Given the description of an element on the screen output the (x, y) to click on. 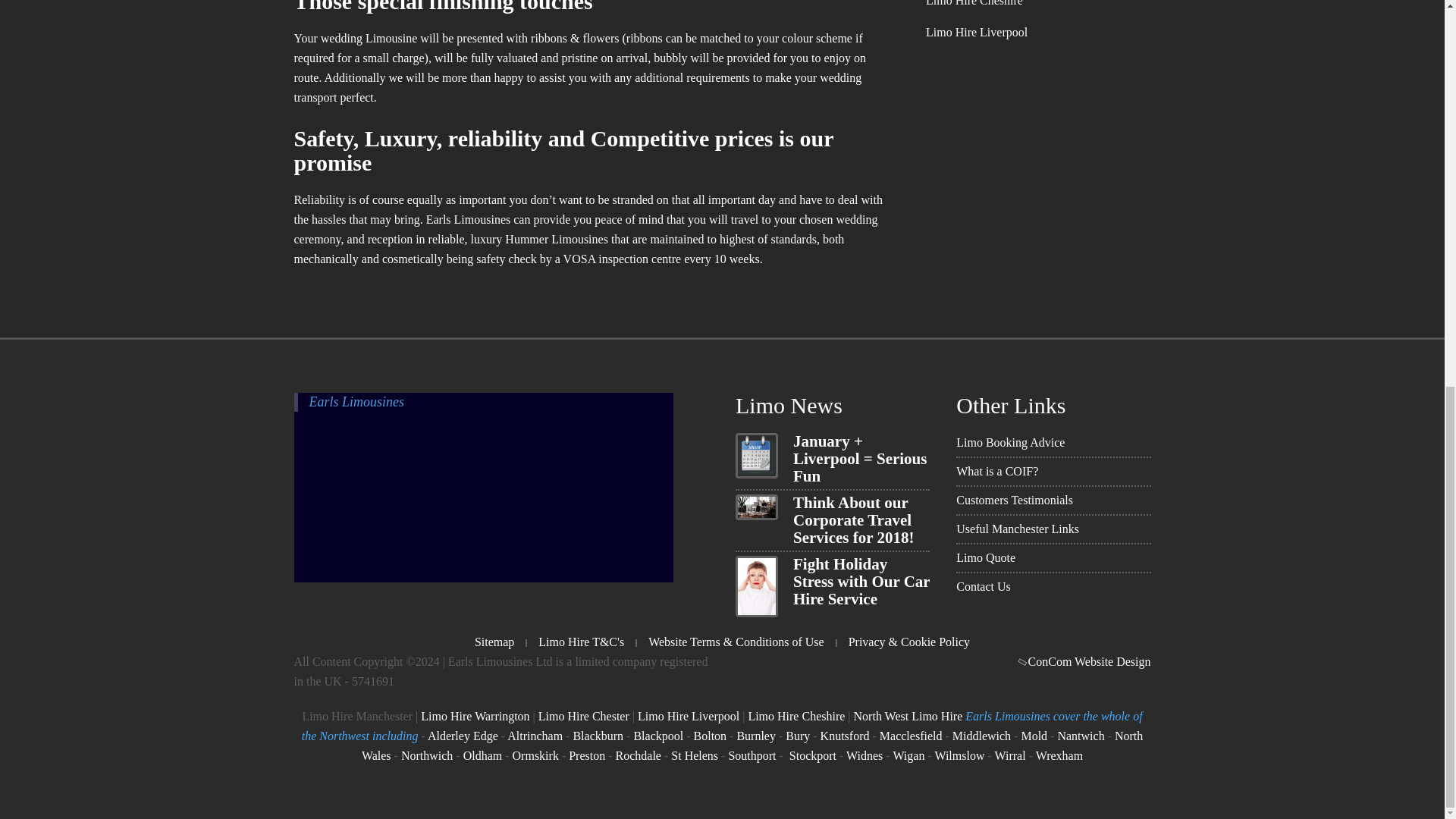
Limo Hire in Blackpool (657, 735)
Limo Hire Bury (797, 735)
Think About our Corporate Travel Services for 2018! (853, 520)
Knutsford Limo Hire (845, 735)
Fight Holiday Stress with Our Car Hire Service (861, 581)
Bolton Hummer limousines for rent (710, 735)
Limo Hire in Burnley (756, 735)
Blackburn Limo Hire (597, 735)
North West Limousines (907, 716)
Limo Hire in Warrington (474, 716)
Alderly Edge Limo Hire (462, 735)
Joomla Website Design Cheshire (1085, 661)
